Given the description of an element on the screen output the (x, y) to click on. 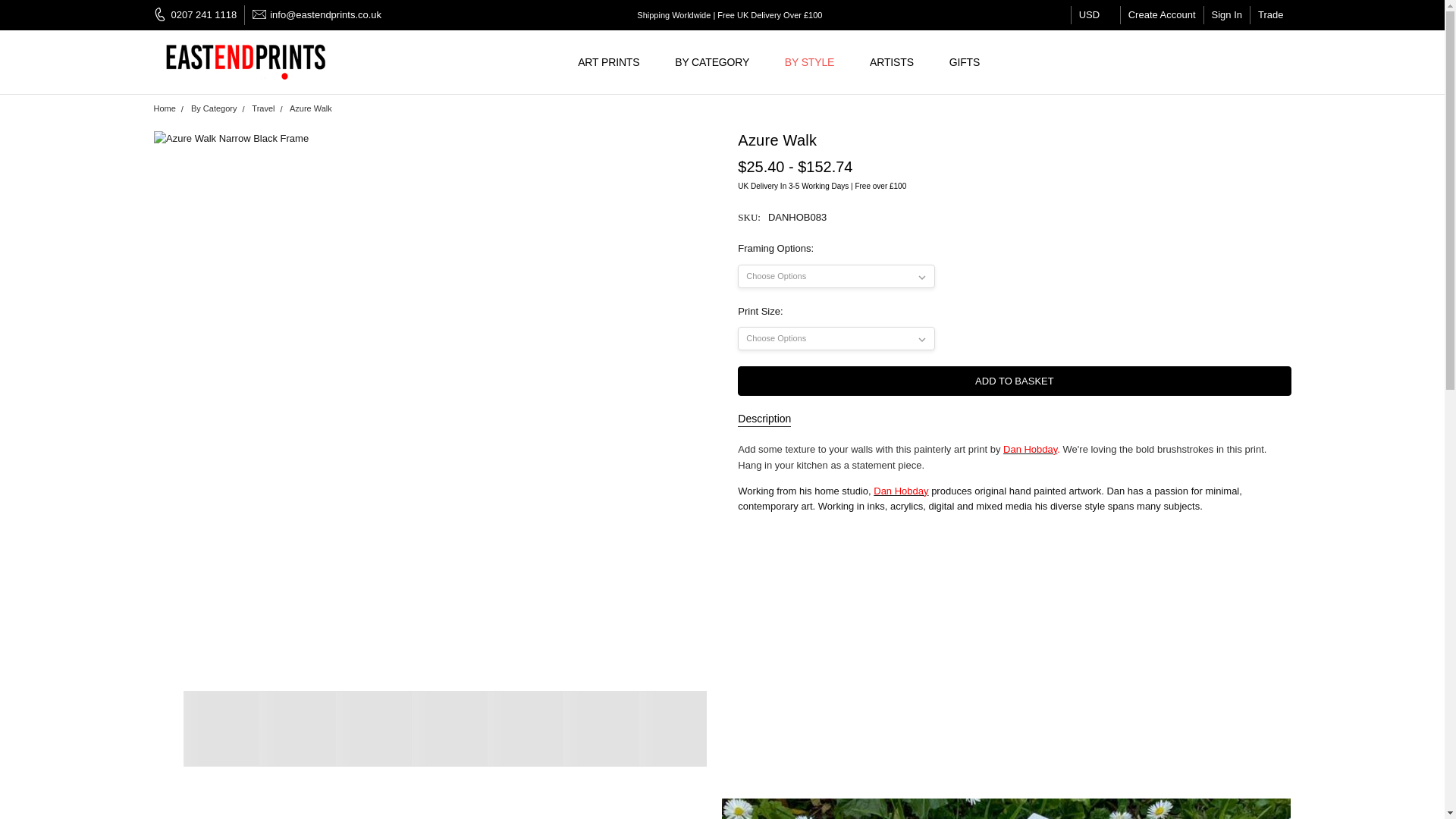
ART PRINTS (614, 62)
Azure Walk Narrow Black Frame (221, 728)
Azure Walk Narrow Oak Frame (448, 728)
Azure Walk Medium Black Frame (296, 728)
Trade (1270, 15)
BY CATEGORY (718, 62)
0207 241 1118 (198, 14)
East End Prints Ltd (247, 62)
Sign In (1226, 15)
Azure Walk Medium Oak Frame (524, 728)
Create Account (1162, 15)
Azure Walk Wide Black Frame (372, 728)
Azure Walk Narrow White Frame (676, 728)
Azure Walk Wide Oak Frame (600, 728)
